Given the description of an element on the screen output the (x, y) to click on. 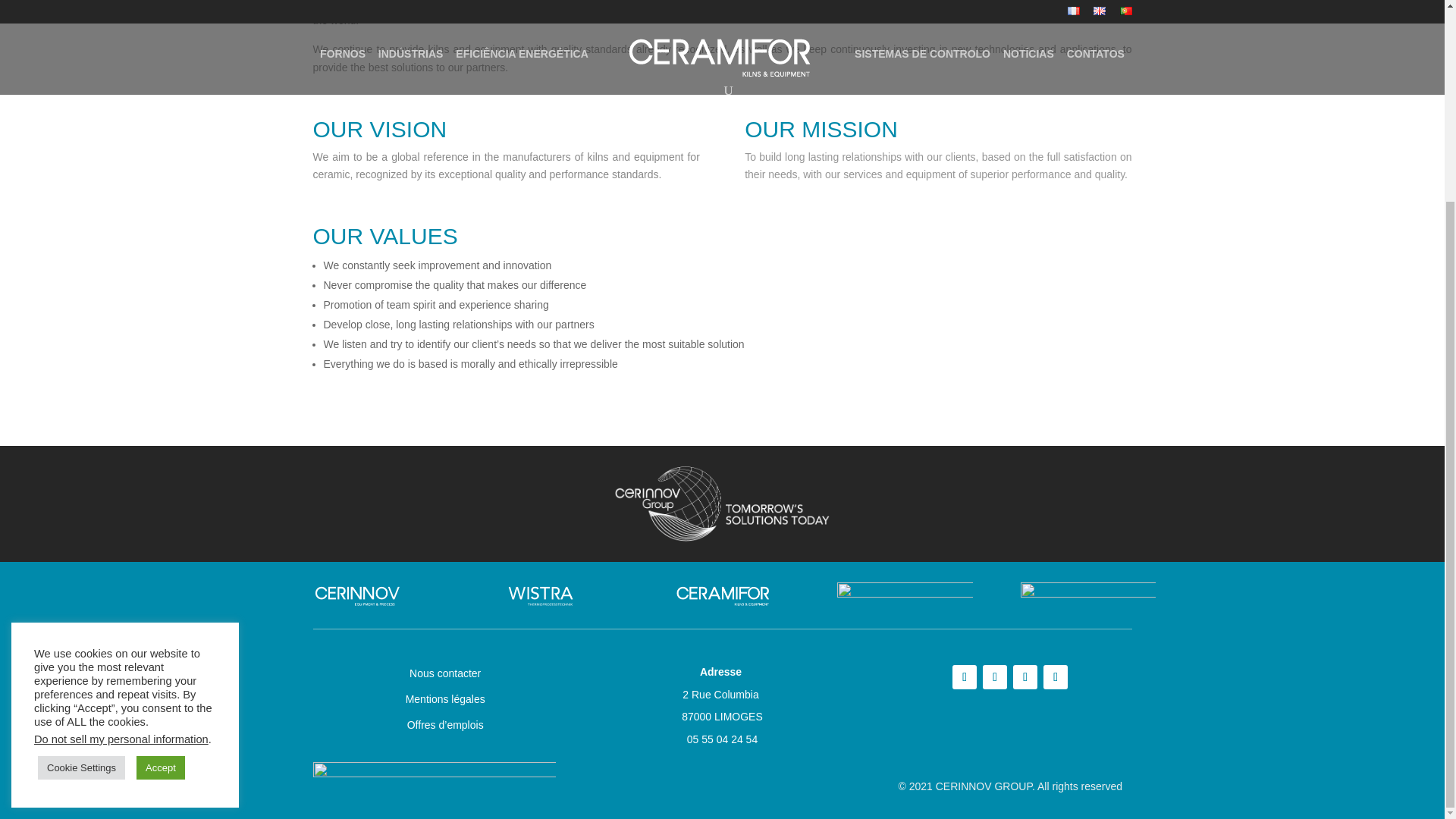
Do not sell my personal information (120, 481)
Follow on Facebook (1055, 677)
Follow on LinkedIn (994, 677)
Cookie Settings (81, 510)
05 55 04 24 54 (722, 739)
Nous contacter (444, 673)
Follow on Youtube (964, 677)
Follow on X (1024, 677)
Accept (160, 510)
